Given the description of an element on the screen output the (x, y) to click on. 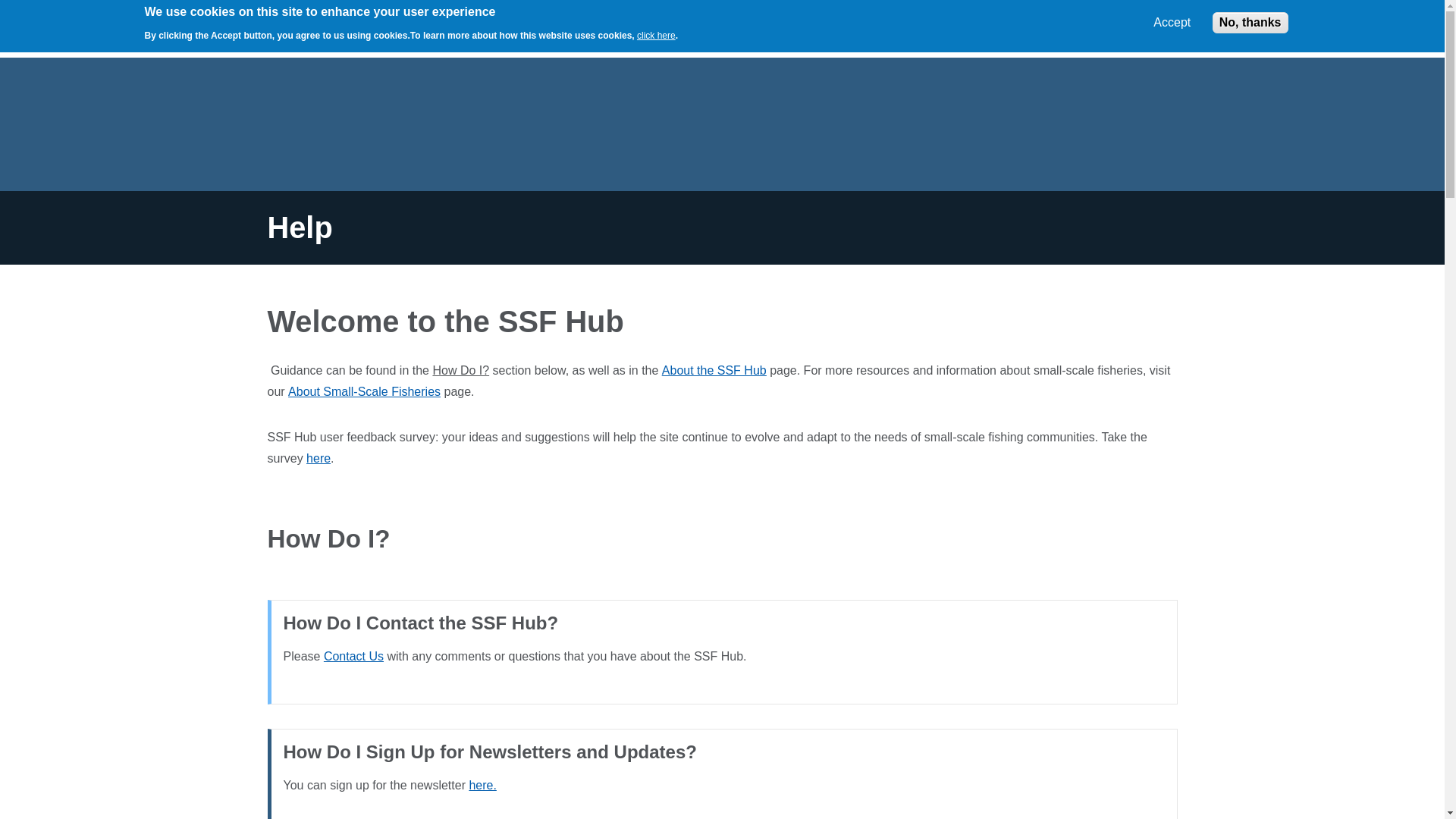
Home (297, 28)
click here (656, 35)
About the SSF Hub (714, 369)
User feedback survey (317, 458)
Contact (482, 784)
Accept (1171, 22)
Stories (517, 36)
About the SSF Hub (714, 369)
No, thanks (1250, 22)
Resource Library (431, 36)
Skip to main content (9, 9)
About the SSF Hub (615, 36)
Search (932, 33)
Contact (353, 656)
